Given the description of an element on the screen output the (x, y) to click on. 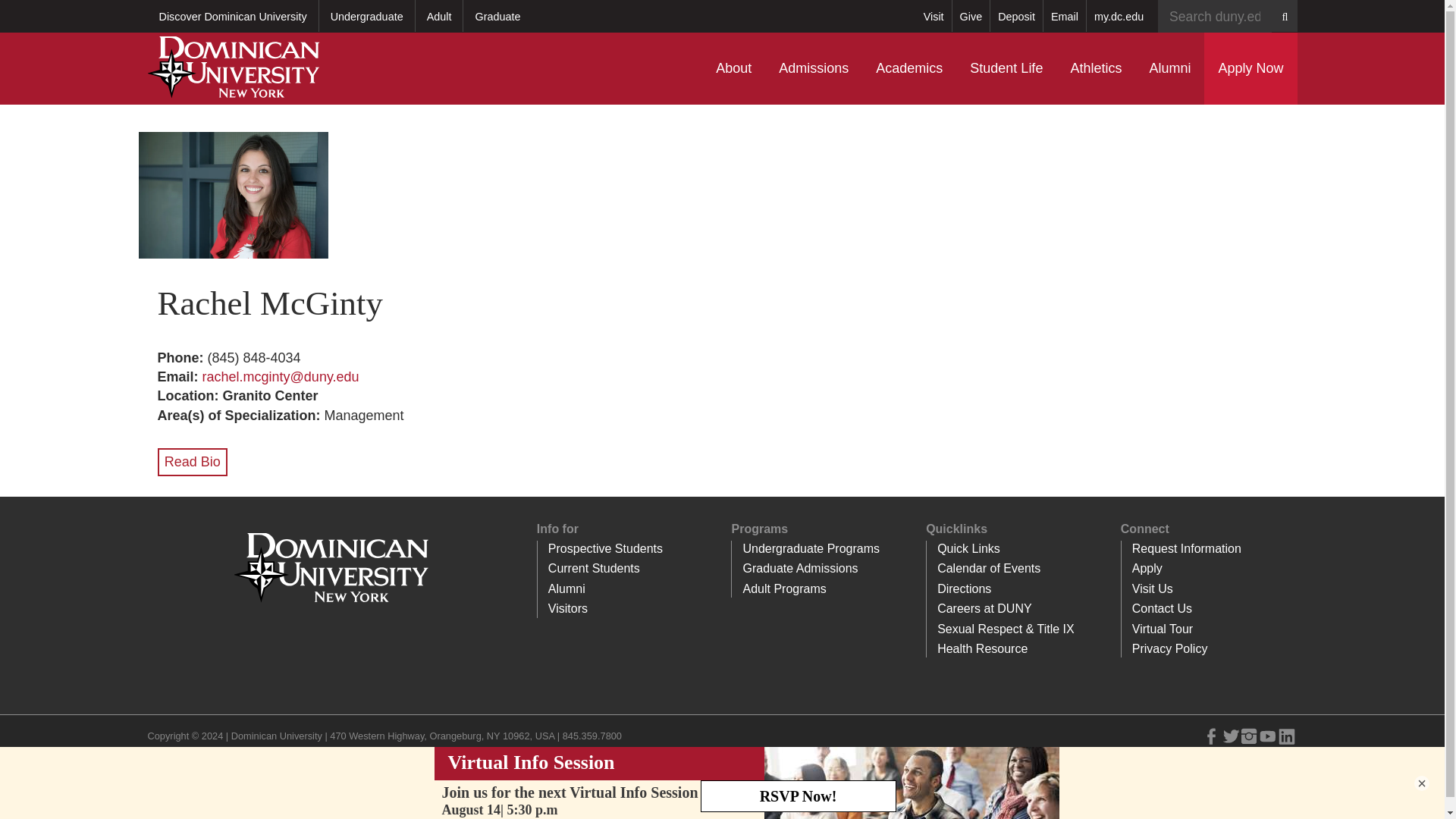
my.dc.edu (1118, 15)
Email (1064, 15)
Deposit (1016, 15)
Graduate (497, 15)
Give (971, 15)
Discover Dominican University (232, 15)
Undergraduate (366, 15)
Email (1064, 15)
Visit (933, 15)
Adult (438, 15)
